Given the description of an element on the screen output the (x, y) to click on. 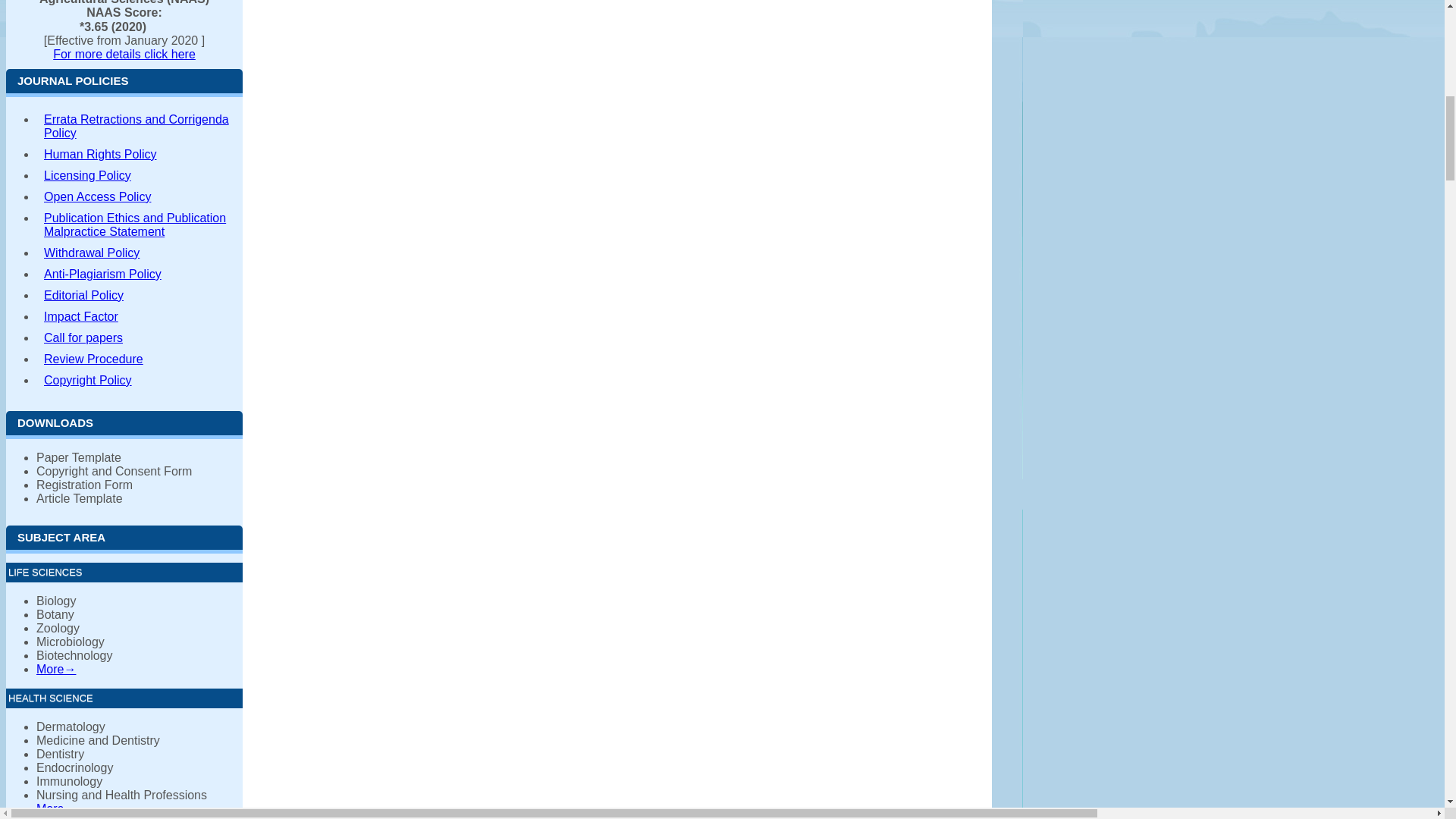
Call for papers (139, 337)
Publication Ethics and Publication Malpractice Statement (139, 225)
Review Procedure (139, 359)
Copyright Policy (139, 380)
Open Access Policy (139, 197)
Editorial Policy (139, 295)
Errata Retractions and Corrigenda Policy (139, 126)
Anti-Plagiarism Policy (139, 274)
Human Rights Policy (139, 154)
For more details click here (123, 53)
Licensing Policy (139, 175)
Impact Factor (139, 316)
Withdrawal Policy (139, 252)
